Given the description of an element on the screen output the (x, y) to click on. 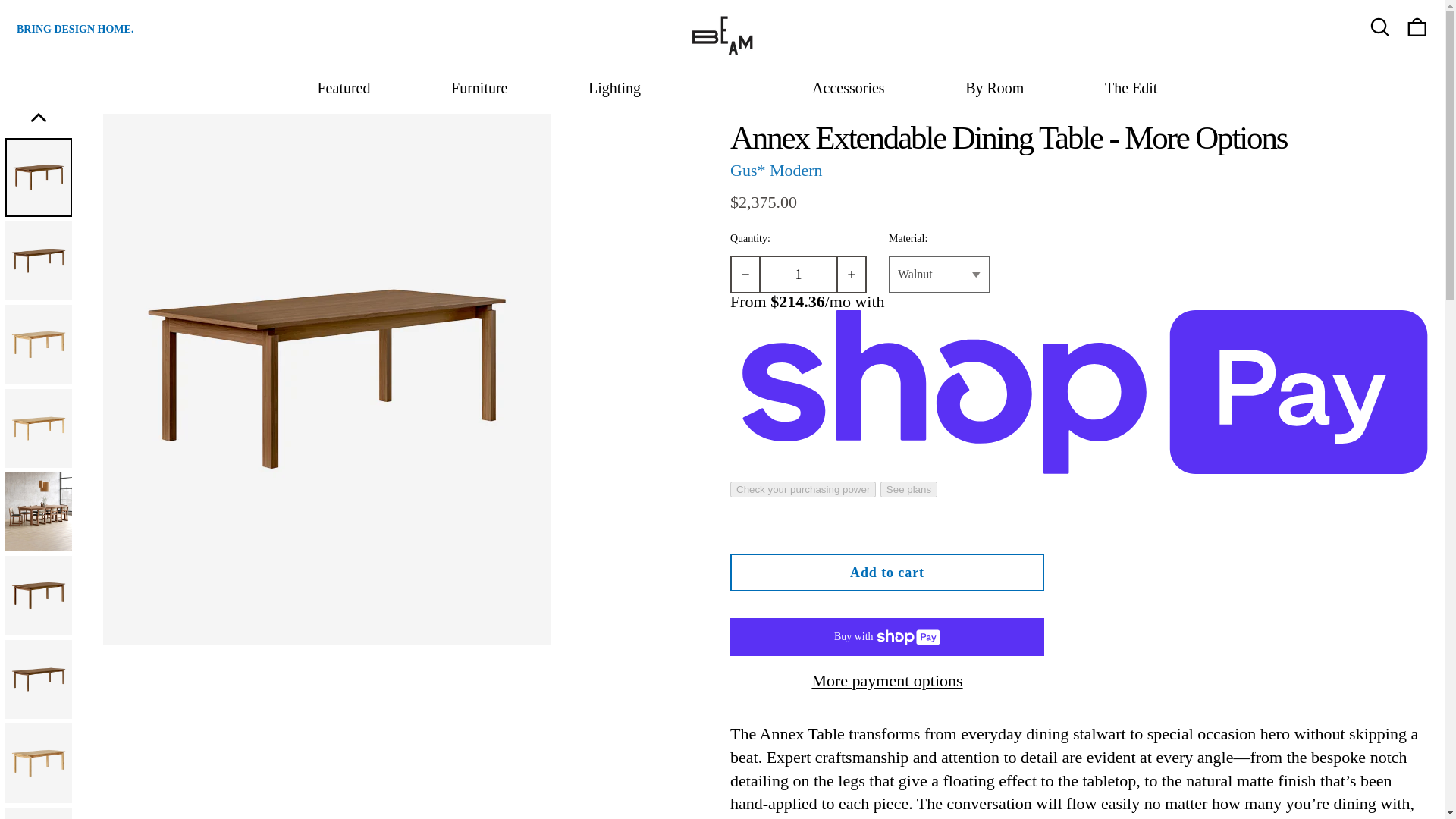
1 (797, 274)
